Given the description of an element on the screen output the (x, y) to click on. 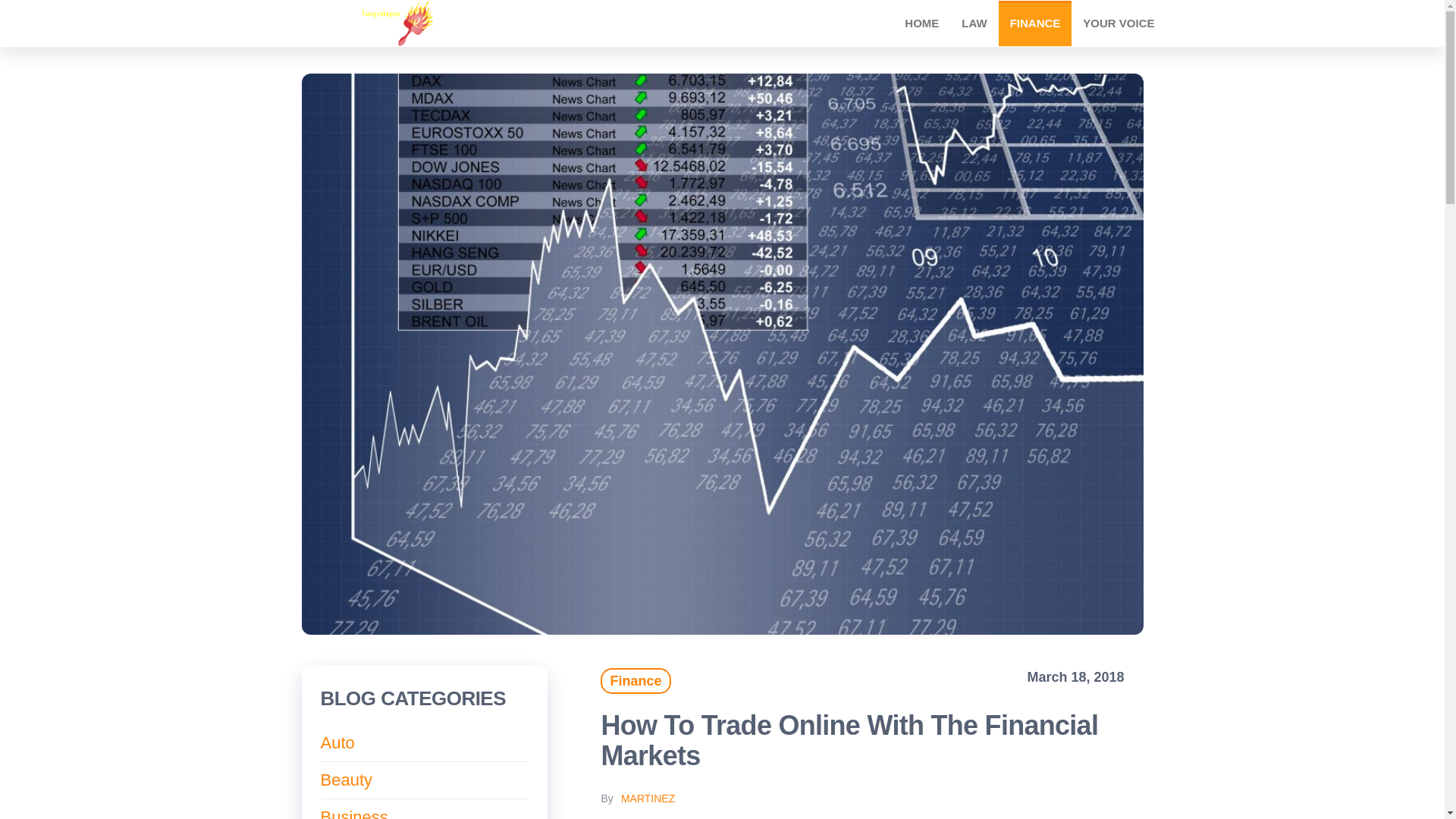
MARTINEZ (648, 798)
Finance (1034, 22)
Finance (634, 680)
Home (921, 22)
Auto (336, 742)
Beauty (346, 779)
LAW (973, 22)
Law (973, 22)
Your voice (1118, 22)
FINANCE (1034, 22)
HOME (921, 22)
Business (353, 813)
YOUR VOICE (1118, 22)
